Given the description of an element on the screen output the (x, y) to click on. 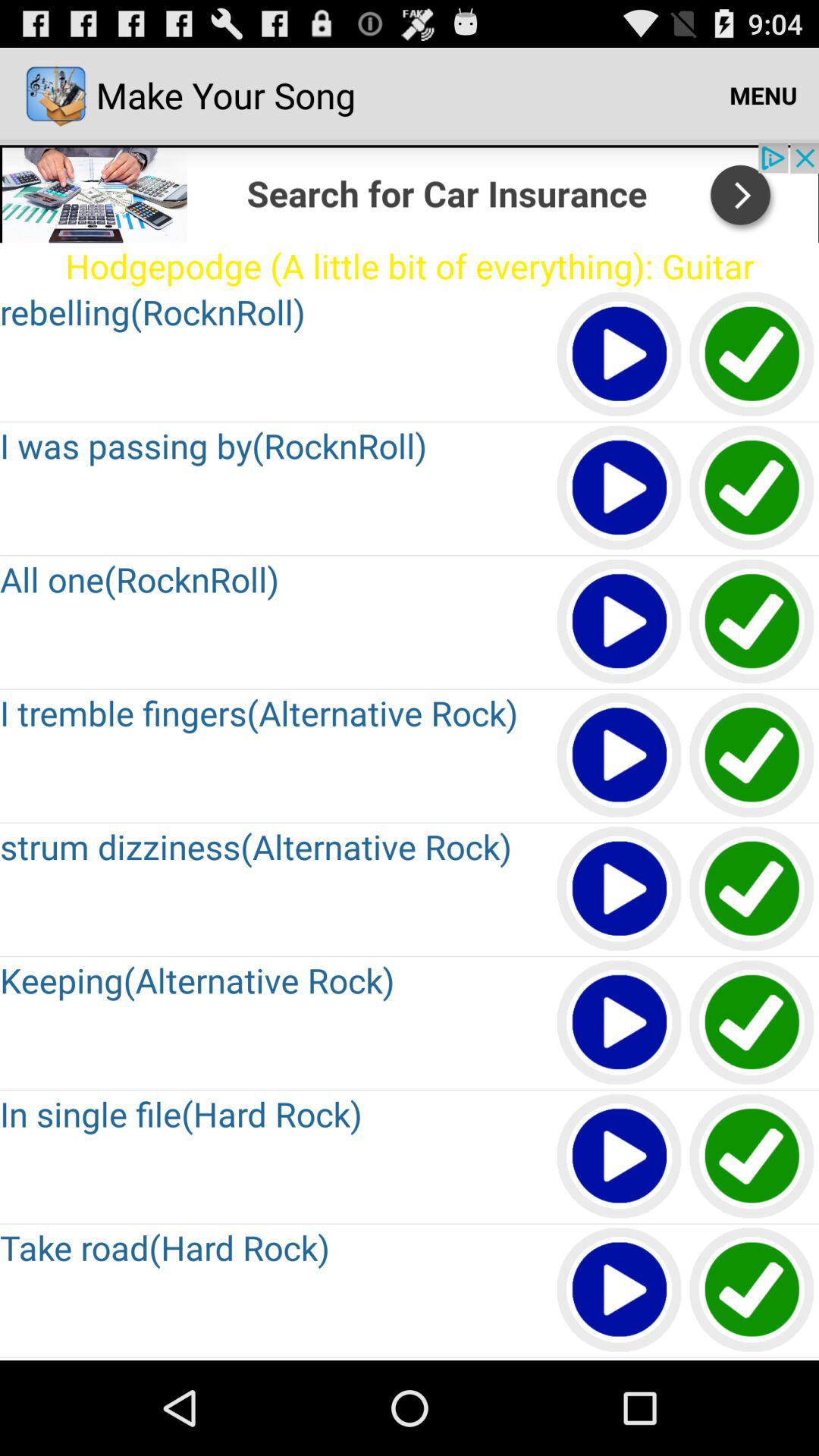
play user (619, 1023)
